Given the description of an element on the screen output the (x, y) to click on. 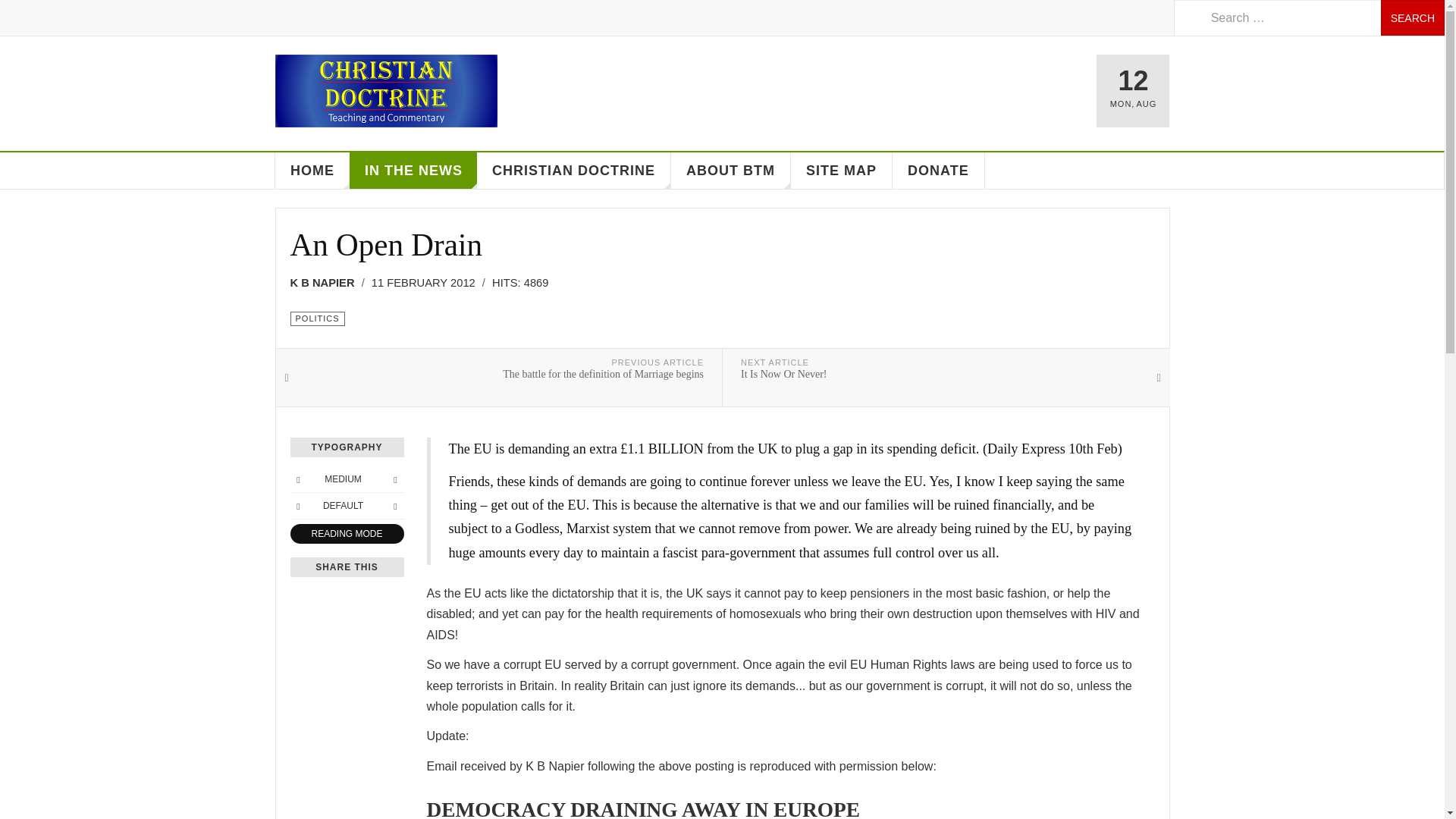
Next Font Style (395, 505)
Christian Doctrine from Bible Theology Ministries UK (385, 90)
An Open Drain (385, 244)
Category:  (316, 318)
Reading Mode (346, 534)
Smaller Font (297, 478)
Previous Font Style (297, 505)
Published:  (427, 282)
Bigger Font (395, 478)
Written by:  (326, 282)
